Given the description of an element on the screen output the (x, y) to click on. 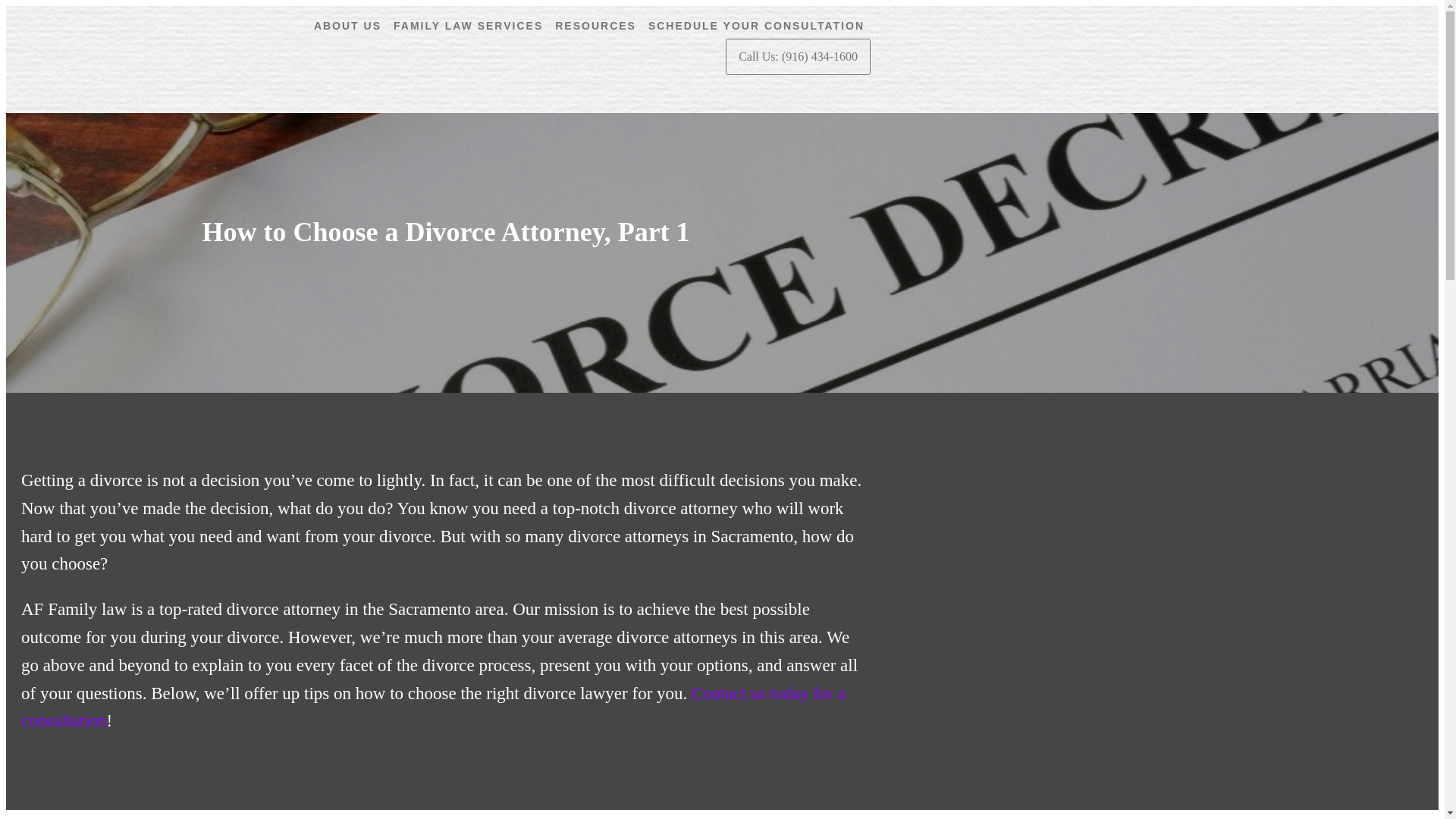
RESOURCES (600, 26)
Contact us today for a consultation (433, 707)
ABOUT US (352, 26)
FAMILY LAW SERVICES (467, 26)
SCHEDULE YOUR CONSULTATION (762, 26)
